Given the description of an element on the screen output the (x, y) to click on. 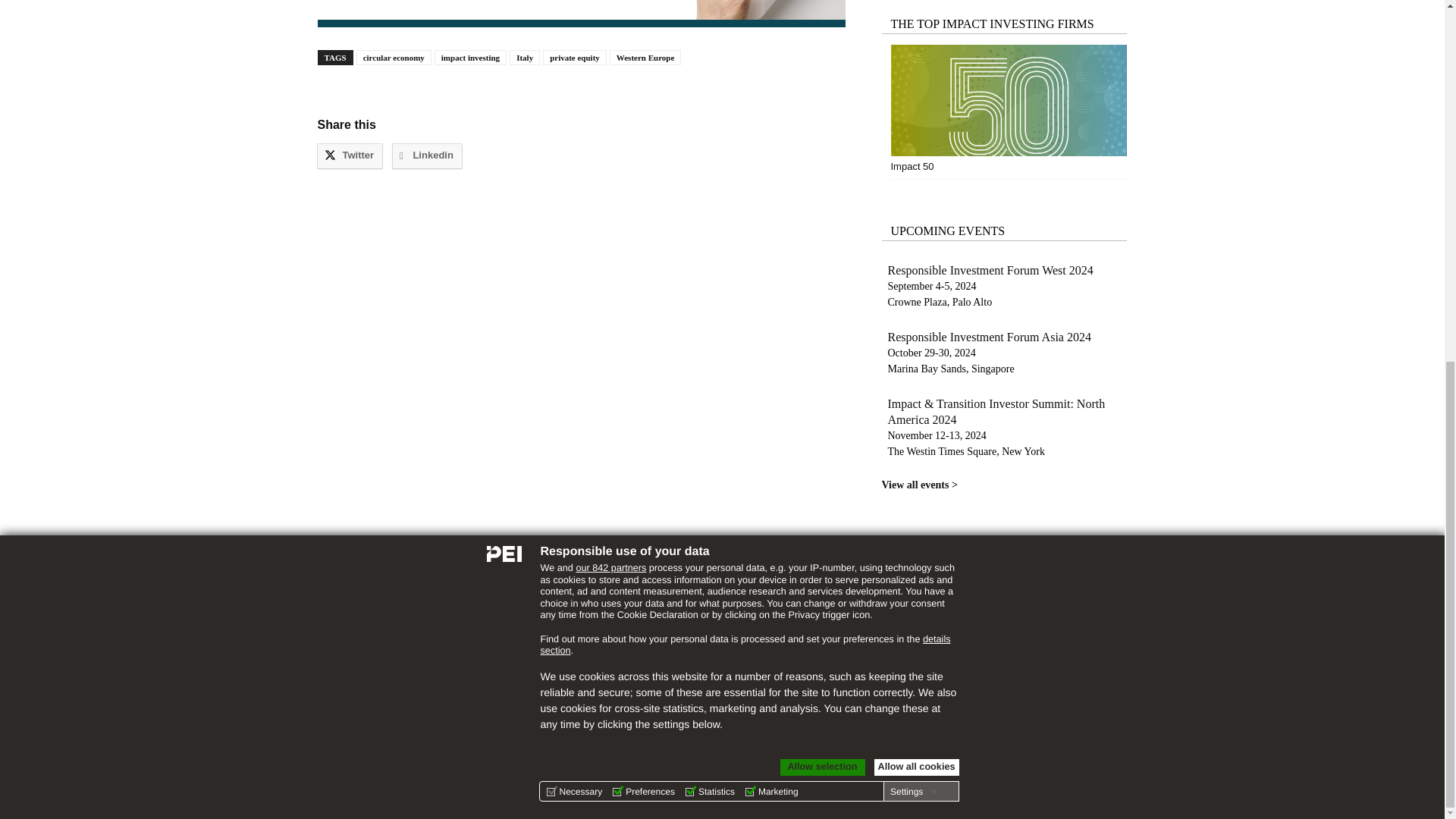
Settings (913, 148)
Allow selection (821, 124)
Allow all cookies (915, 124)
details section (745, 6)
